Given the description of an element on the screen output the (x, y) to click on. 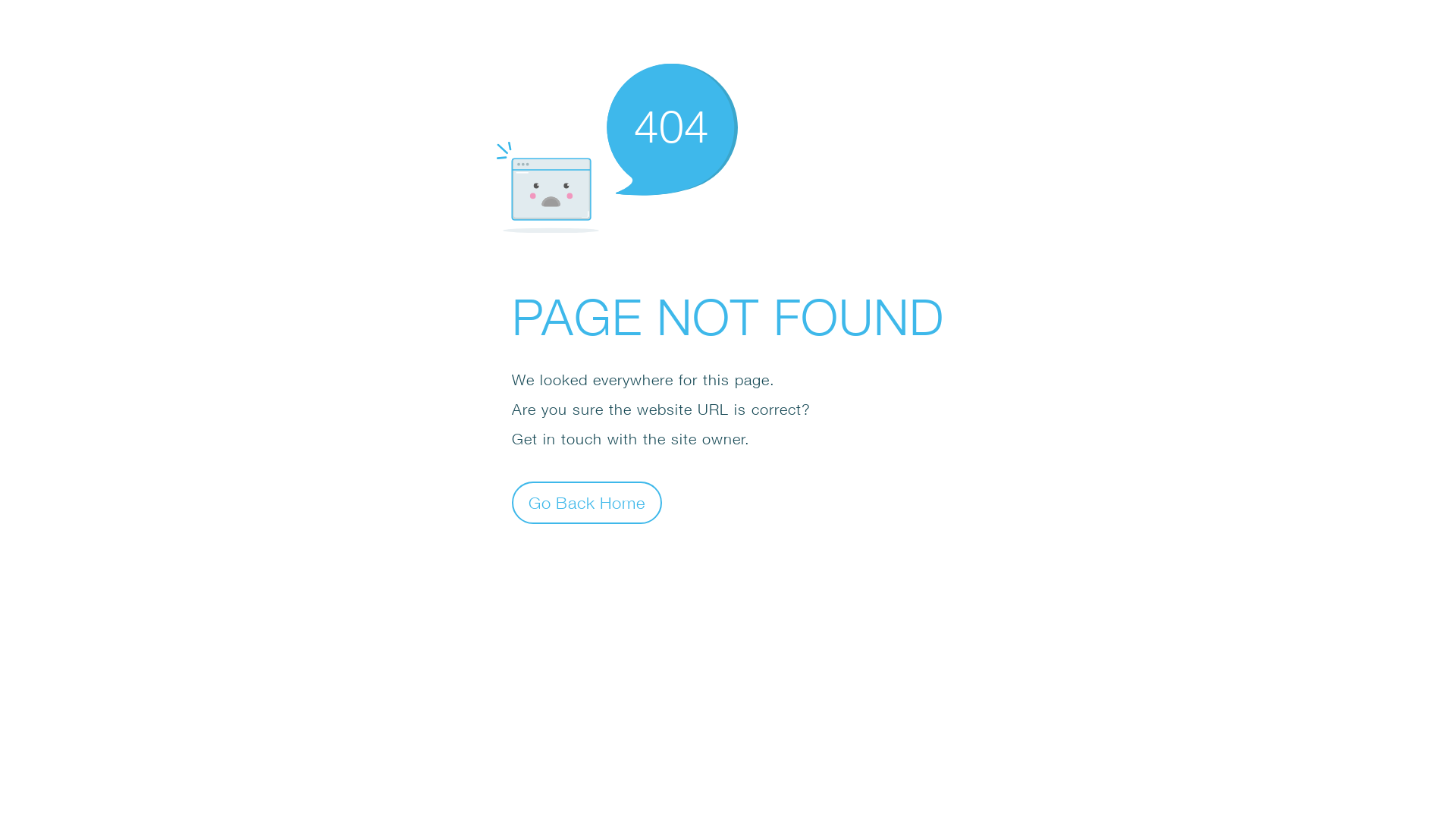
Go Back Home Element type: text (586, 502)
